Given the description of an element on the screen output the (x, y) to click on. 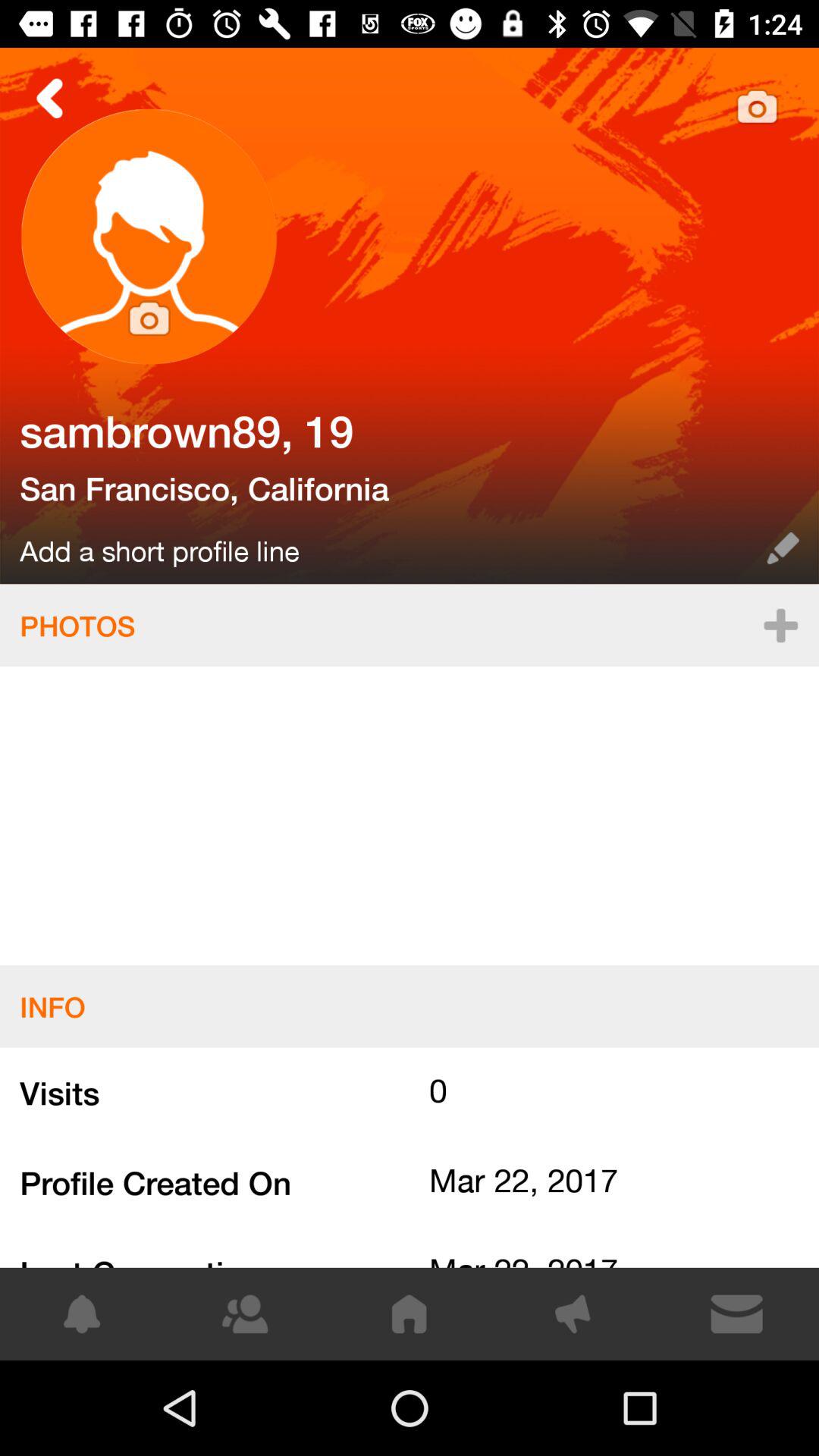
change profile photo (148, 236)
